Given the description of an element on the screen output the (x, y) to click on. 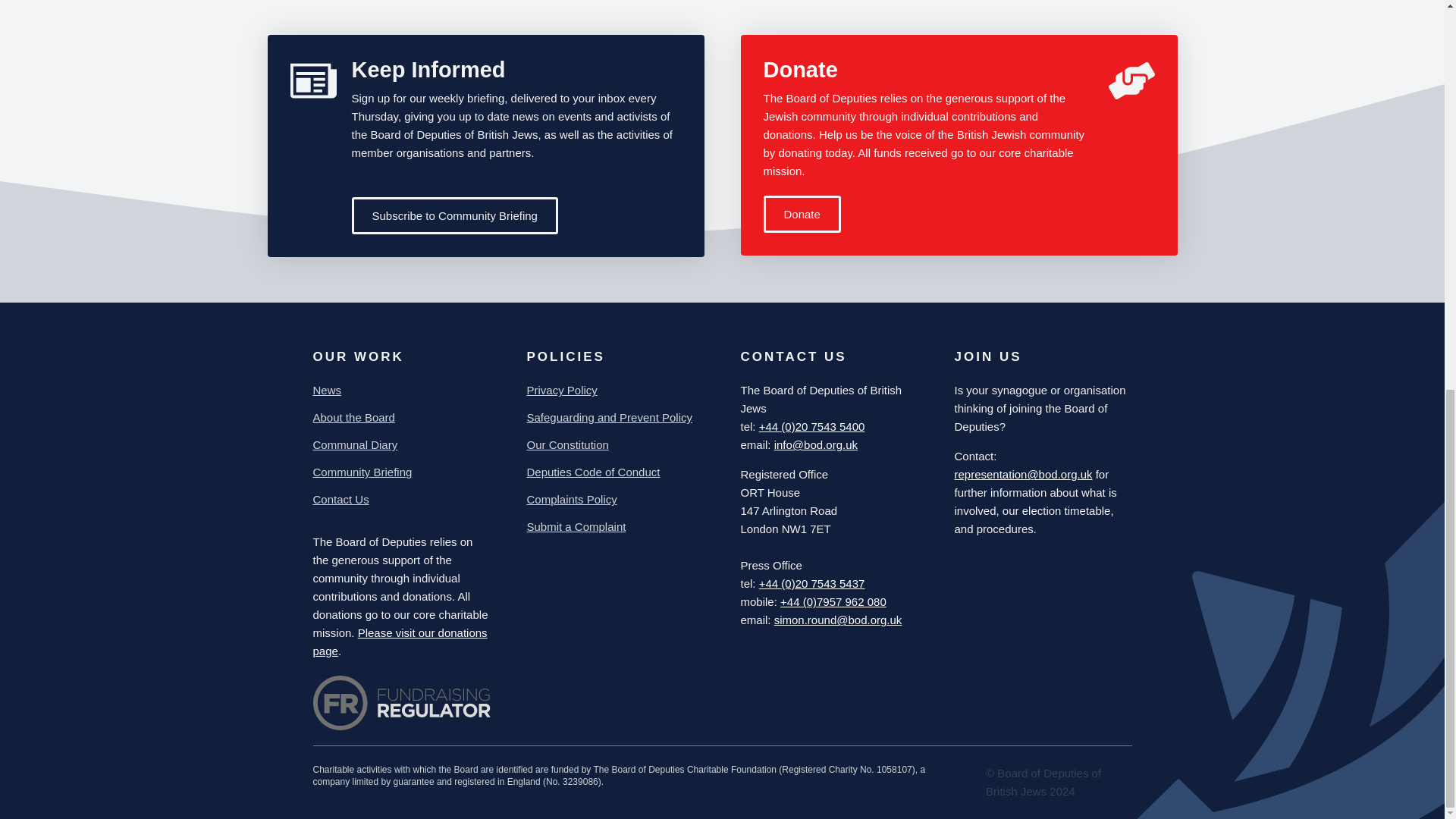
Privacy Policy (560, 390)
About the Board (353, 417)
News (326, 390)
Submit a Complaint (575, 526)
Deputies Code of Conduct (592, 472)
Communal Diary (355, 444)
Donate (801, 213)
Our Constitution (566, 444)
Safeguarding and Prevent Policy (608, 417)
Subscribe to Community Briefing (454, 215)
Community Briefing (362, 472)
Complaints Policy (570, 499)
Please visit our donations page (399, 641)
Contact Us (340, 499)
